Given the description of an element on the screen output the (x, y) to click on. 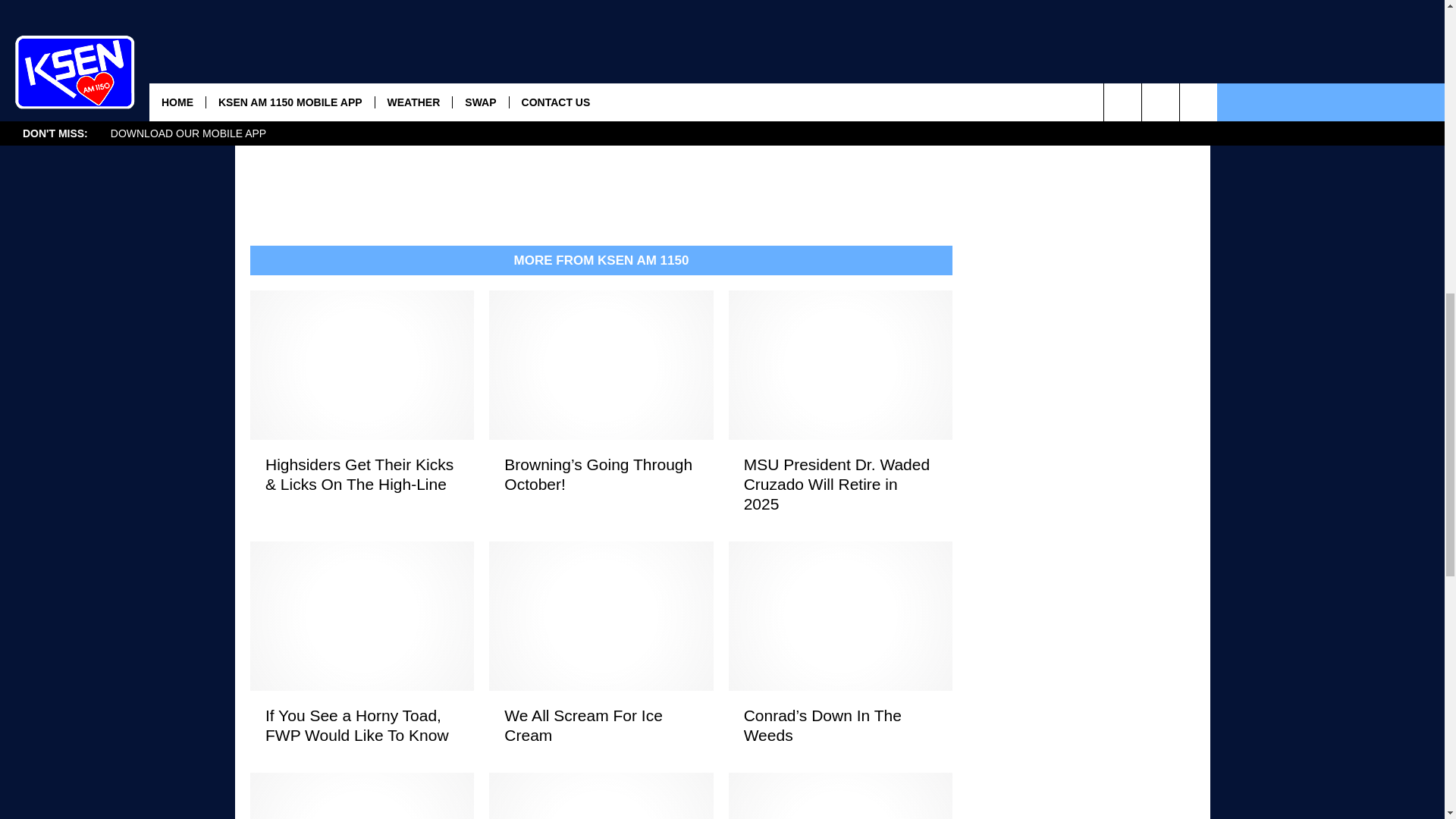
Family Fun (420, 52)
Agriculture (490, 39)
Ag Appreciation (422, 39)
Amazing (541, 39)
Food (464, 52)
Best Of North Central Montana (660, 39)
Gardening (507, 52)
Art (573, 39)
Events (372, 52)
Country (757, 39)
